Given the description of an element on the screen output the (x, y) to click on. 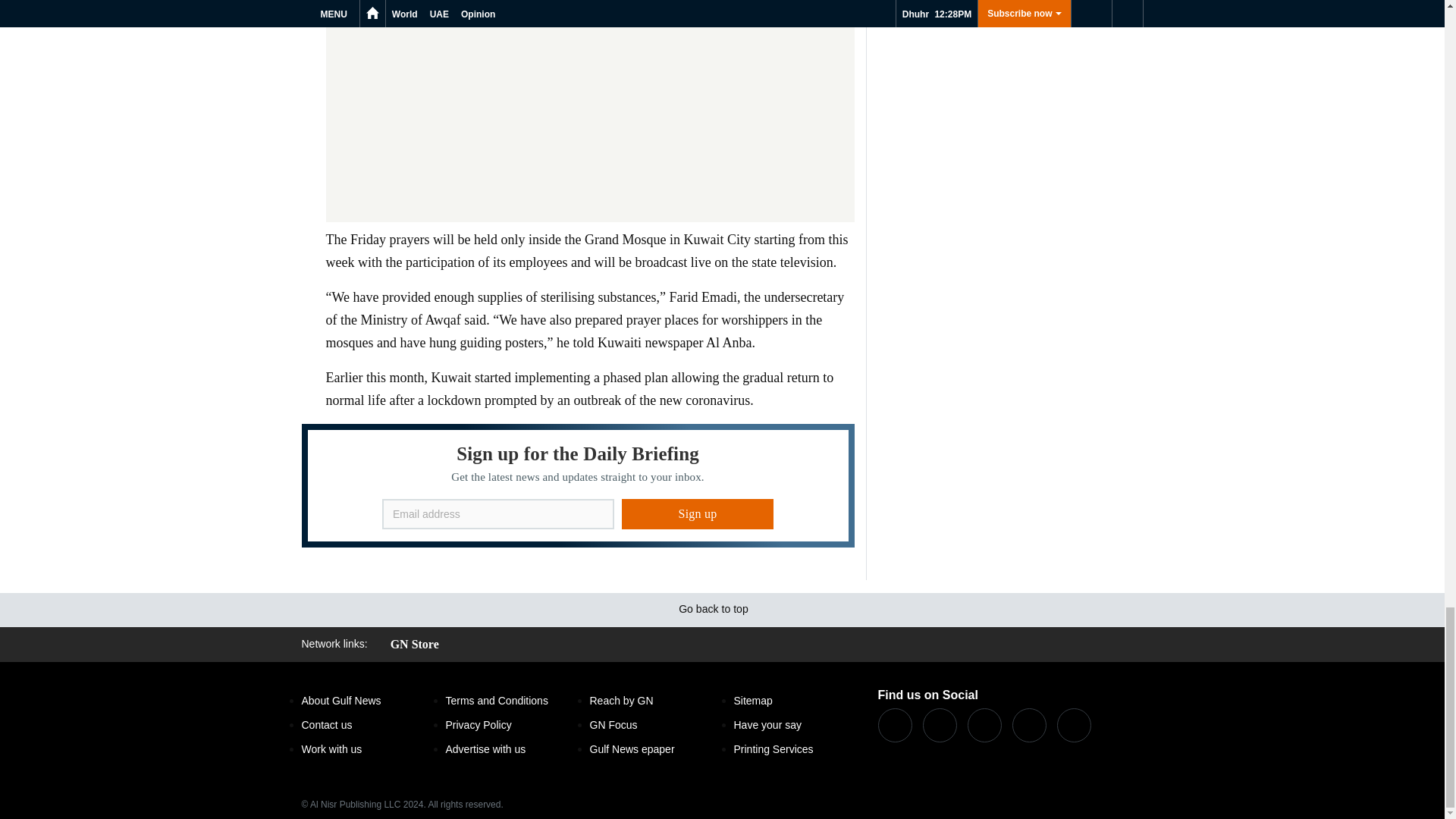
Sign up for the Daily Briefing (577, 485)
